Given the description of an element on the screen output the (x, y) to click on. 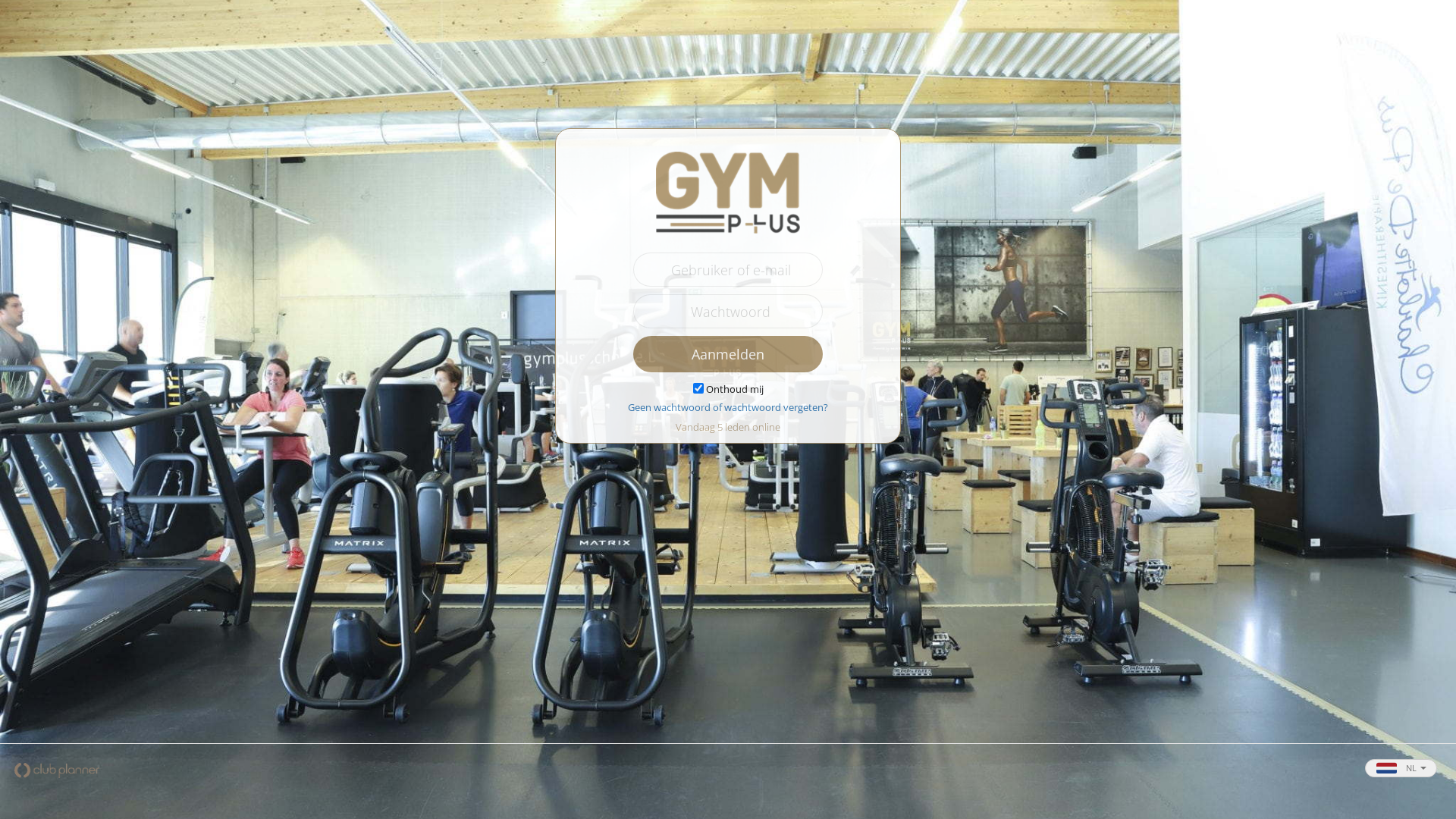
Geen wachtwoord of wachtwoord vergeten? Element type: text (727, 407)
NL Element type: text (1401, 768)
Aanmelden Element type: text (727, 353)
